Given the description of an element on the screen output the (x, y) to click on. 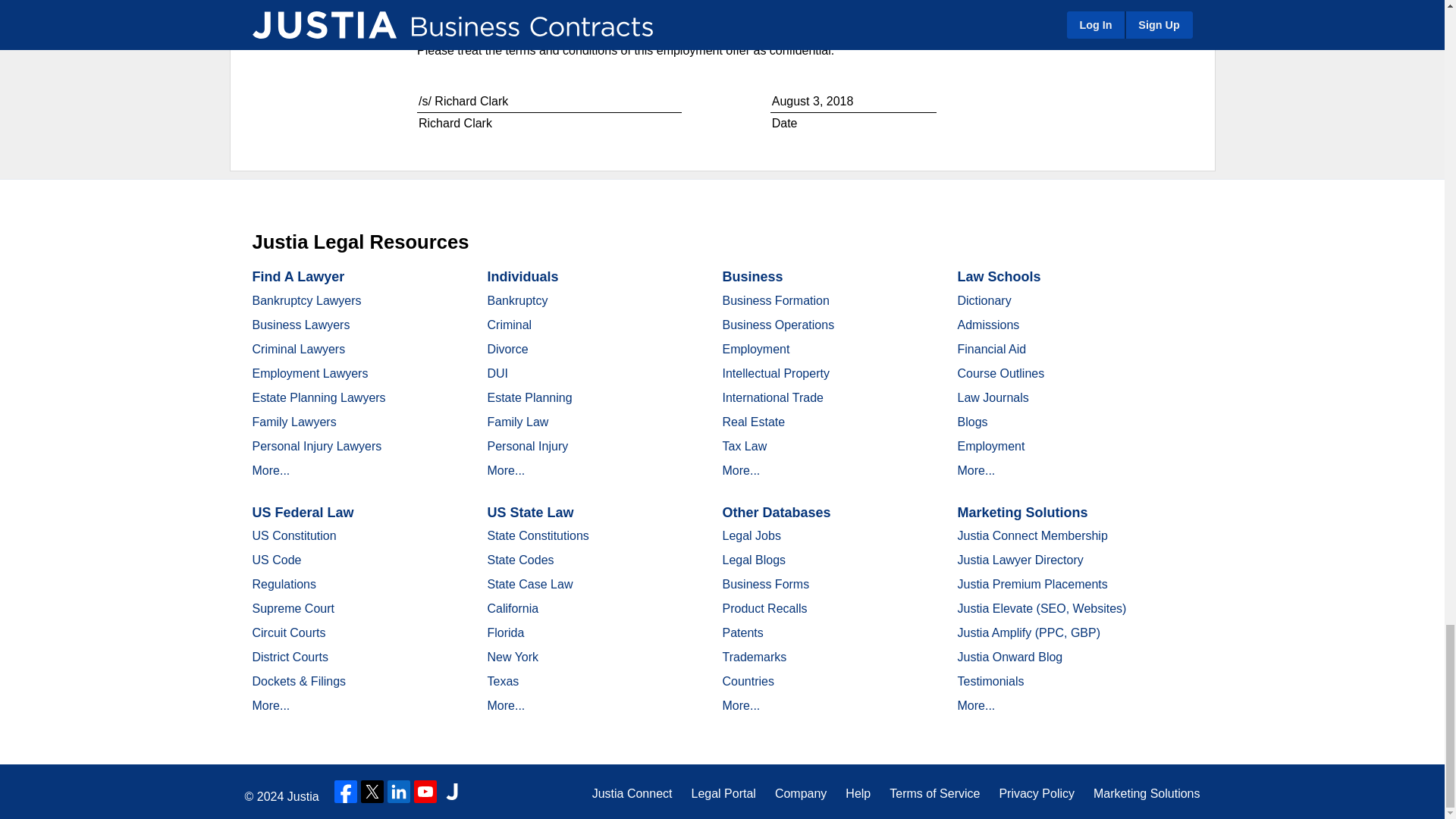
Bankruptcy Lawyers (306, 300)
Individuals (521, 276)
Find A Lawyer (297, 276)
LinkedIn (398, 791)
Justia Lawyer Directory (452, 791)
YouTube (424, 791)
Facebook (345, 791)
More... (270, 470)
Business Lawyers (300, 324)
Criminal Lawyers (298, 349)
Personal Injury Lawyers (316, 445)
Estate Planning Lawyers (318, 397)
Employment Lawyers (309, 373)
Twitter (372, 791)
Bankruptcy (516, 300)
